Given the description of an element on the screen output the (x, y) to click on. 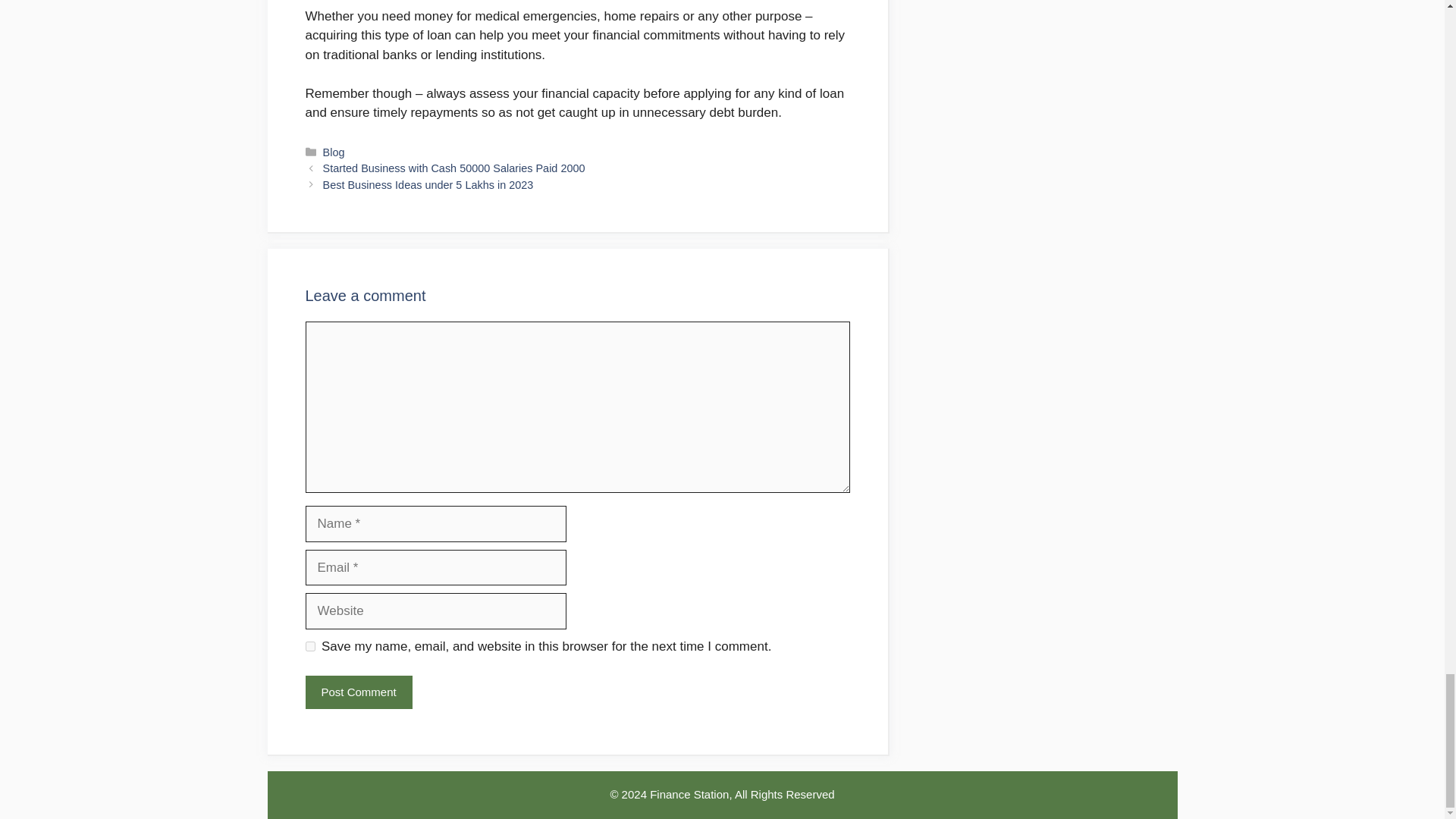
Best Business Ideas under 5 Lakhs in 2023 (428, 184)
Post Comment (358, 692)
Started Business with Cash 50000 Salaries Paid 2000 (454, 168)
Post Comment (358, 692)
yes (309, 646)
Blog (334, 152)
